Given the description of an element on the screen output the (x, y) to click on. 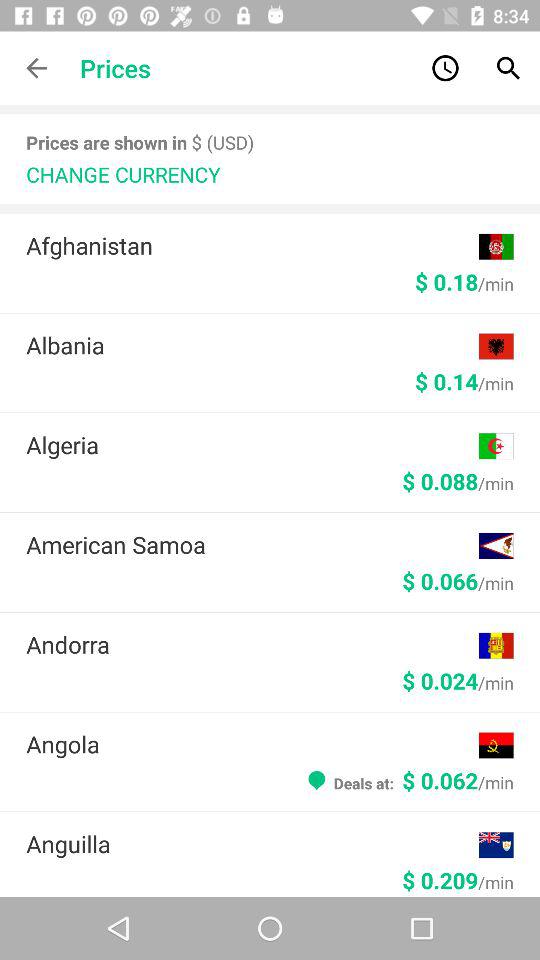
open item next to the prices (36, 68)
